Given the description of an element on the screen output the (x, y) to click on. 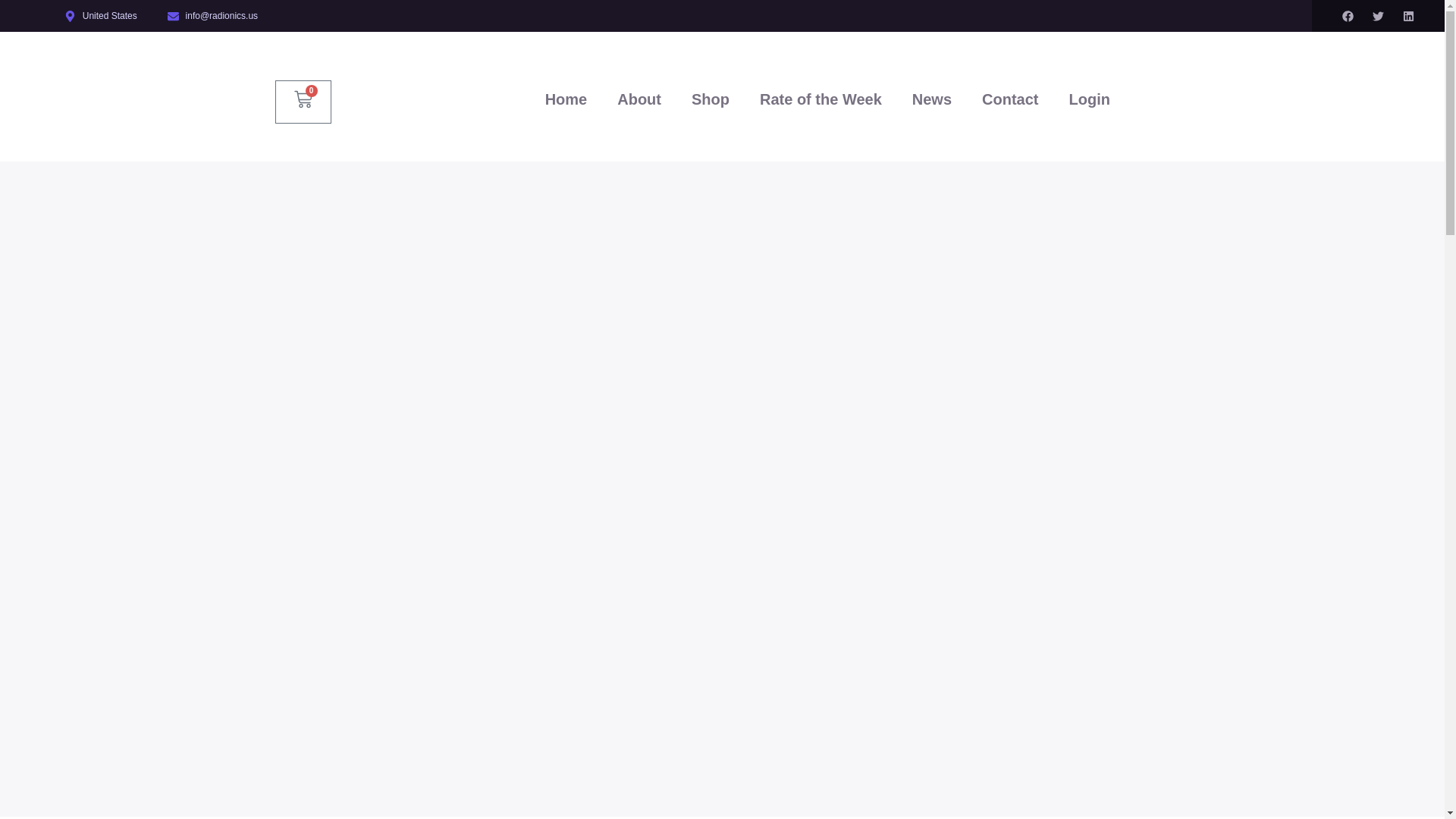
Contact (1009, 98)
About (639, 98)
Login (1088, 98)
Rate of the Week (820, 98)
Shop (710, 98)
News (931, 98)
Home (565, 98)
0 (303, 101)
